Given the description of an element on the screen output the (x, y) to click on. 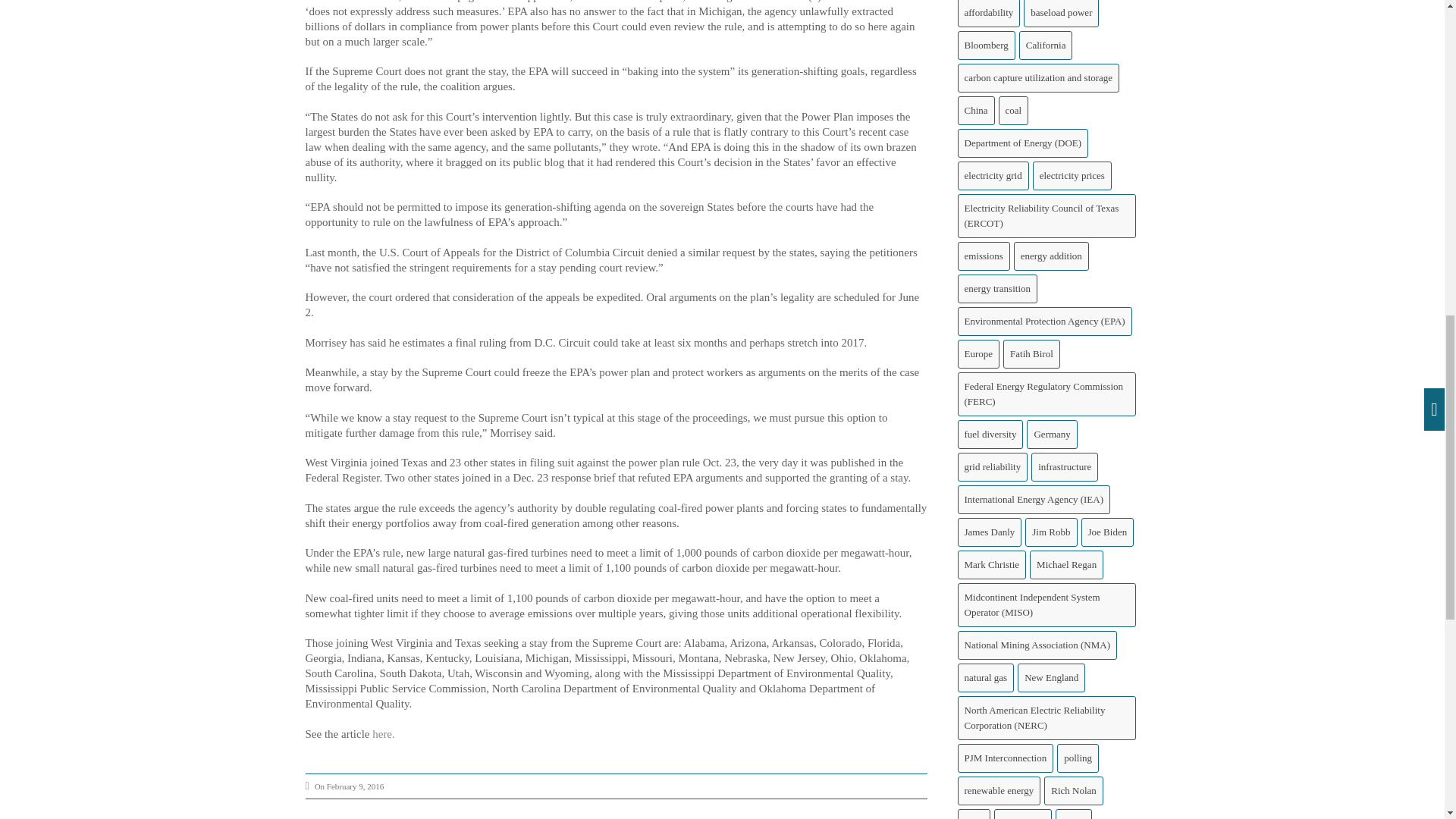
here. (383, 734)
